Given the description of an element on the screen output the (x, y) to click on. 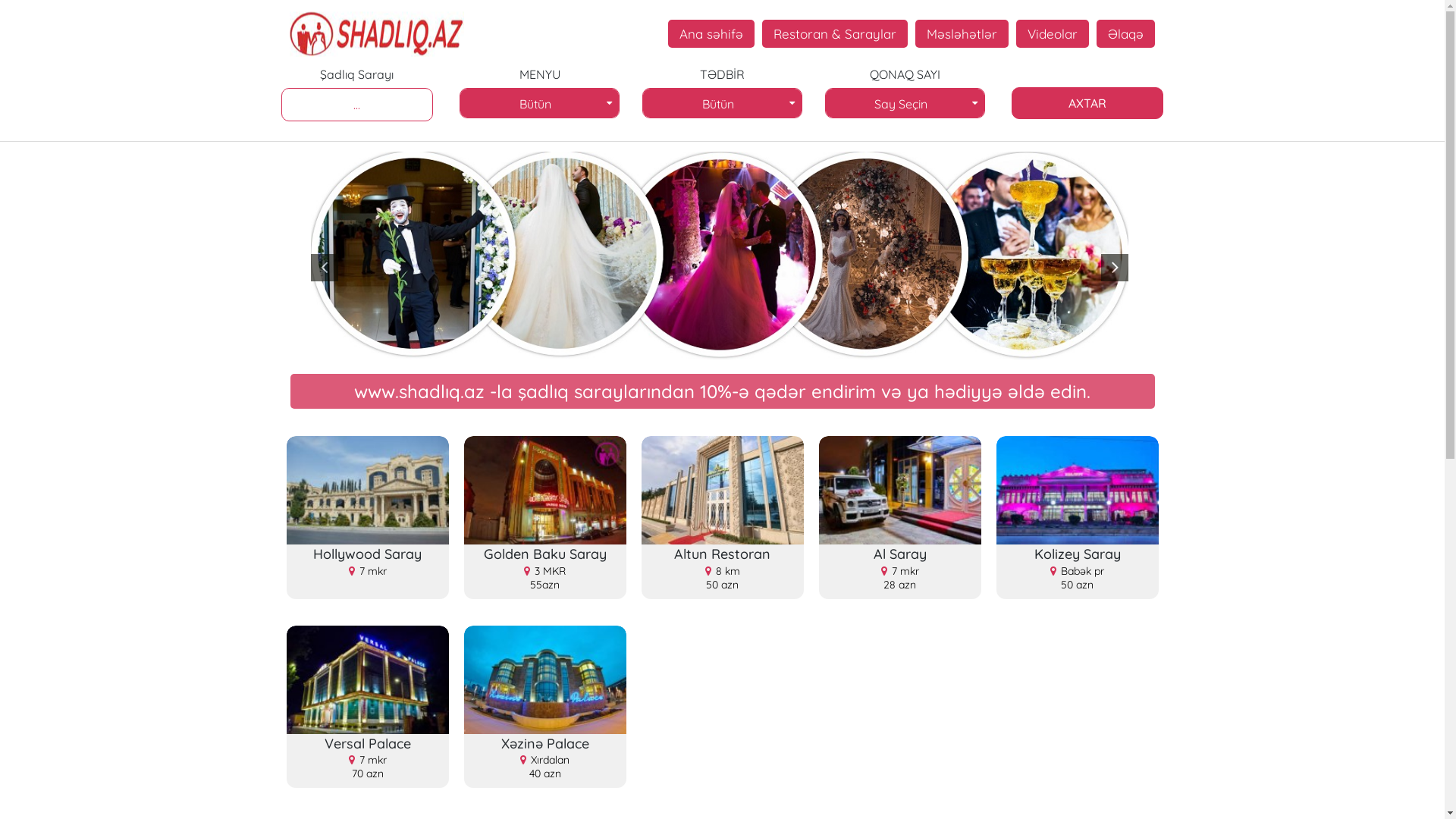
Golden Baku Saray
3 MKR
55azn Element type: text (545, 571)
Versal Palace
7 mkr
70 azn Element type: text (367, 761)
Kolizey Saray Element type: hover (1077, 490)
Hollywood Saray Element type: hover (367, 490)
Al Saray  Element type: hover (900, 490)
Restoran & Saraylar Element type: text (834, 33)
Golden Baku Saray Element type: hover (545, 490)
Videolar Element type: text (1052, 33)
AXTAR Element type: text (1087, 103)
Versal Palace  Element type: hover (367, 679)
Altun Restoran
8 km
50 azn Element type: text (722, 571)
Al Saray
7 mkr
28 azn Element type: text (900, 571)
Hollywood Saray
7 mkr Element type: text (367, 560)
Altun Restoran Element type: hover (722, 490)
